Given the description of an element on the screen output the (x, y) to click on. 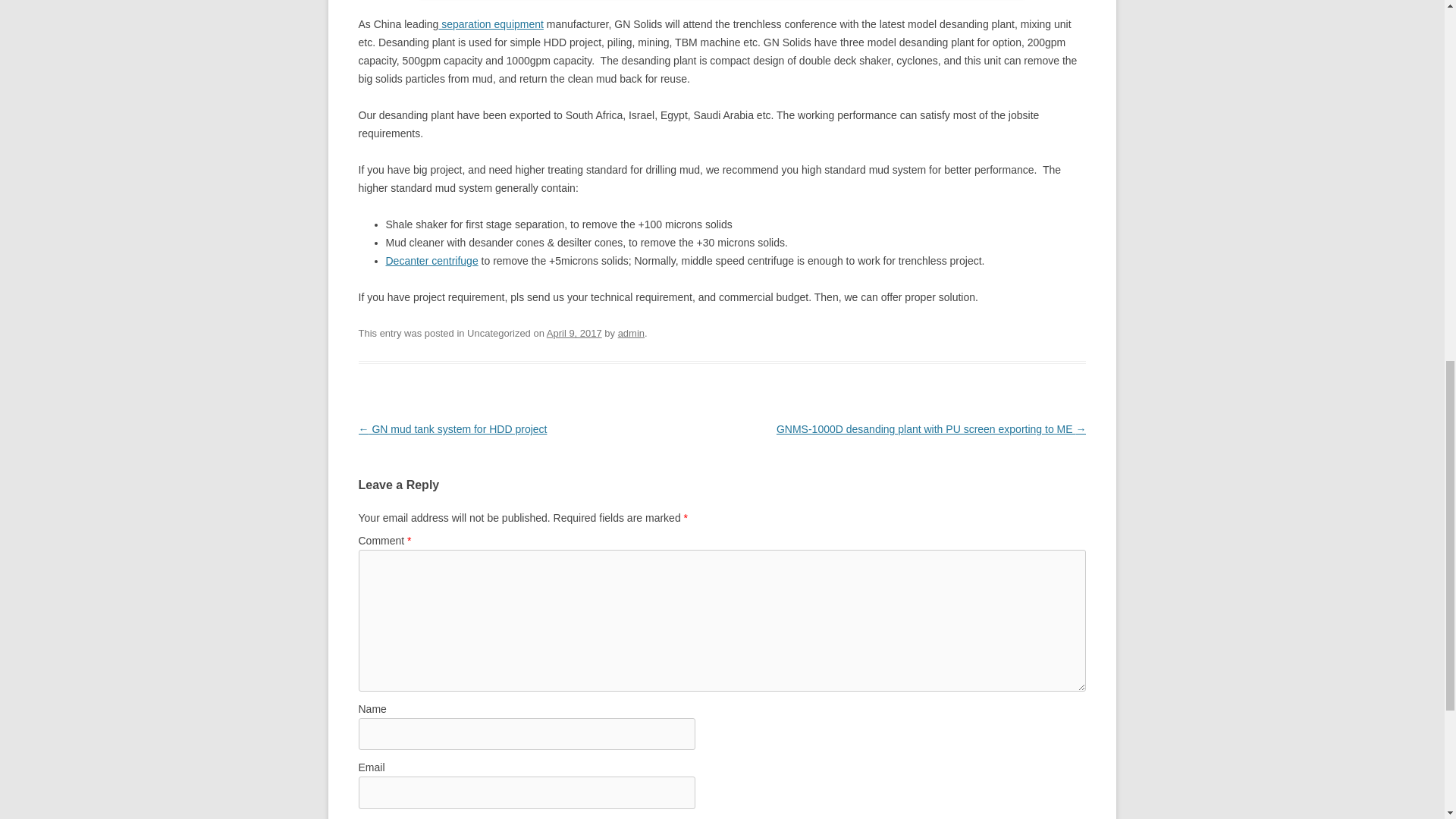
admin (631, 333)
April 9, 2017 (574, 333)
12:16 am (574, 333)
separation equipment (490, 24)
Decanter centrifuge (431, 260)
View all posts by admin (631, 333)
